Given the description of an element on the screen output the (x, y) to click on. 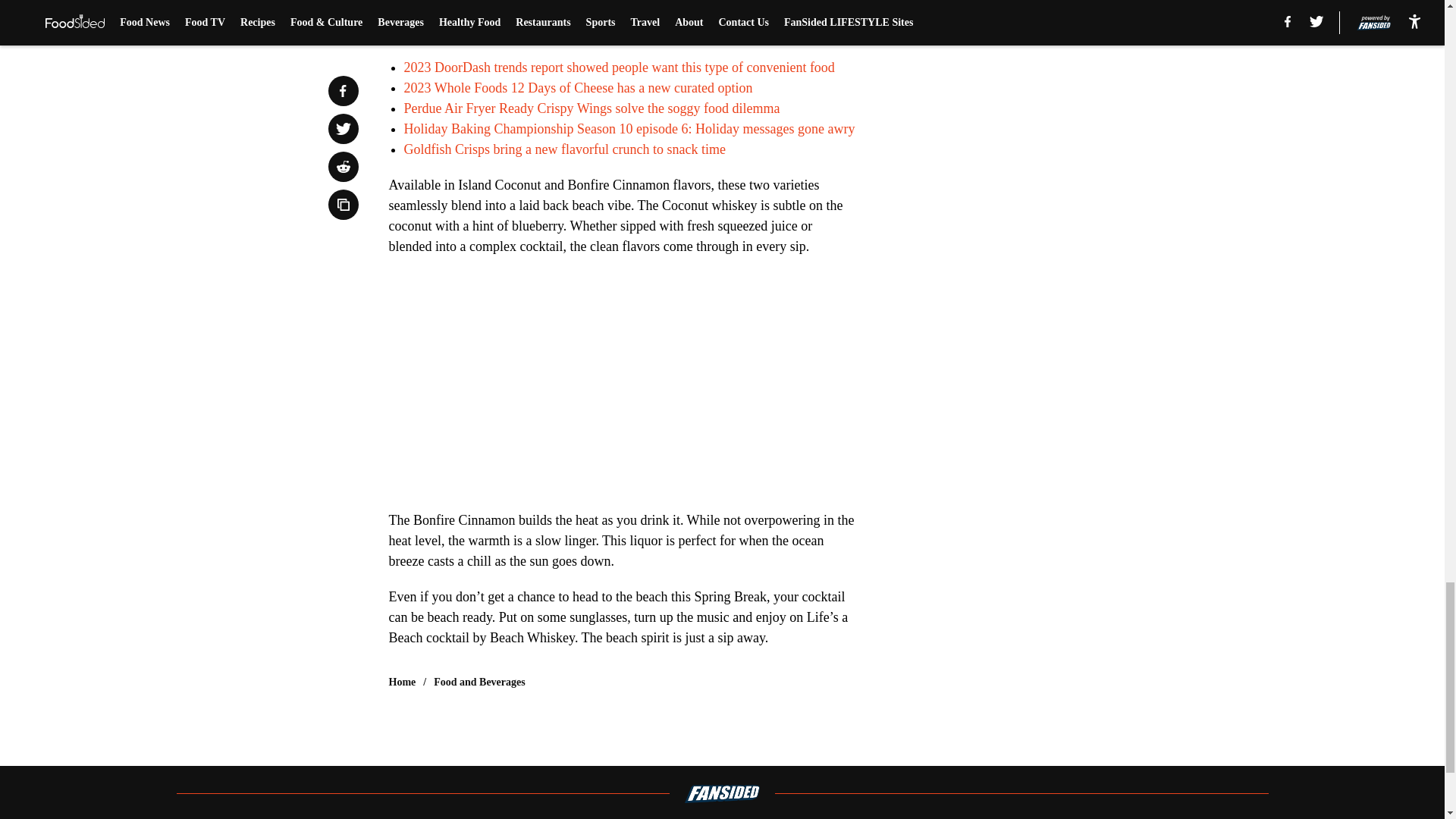
Contact (705, 818)
Goldfish Crisps bring a new flavorful crunch to snack time (564, 149)
Food and Beverages (479, 682)
Openings (570, 818)
2023 Whole Foods 12 Days of Cheese has a new curated option (577, 87)
